Given the description of an element on the screen output the (x, y) to click on. 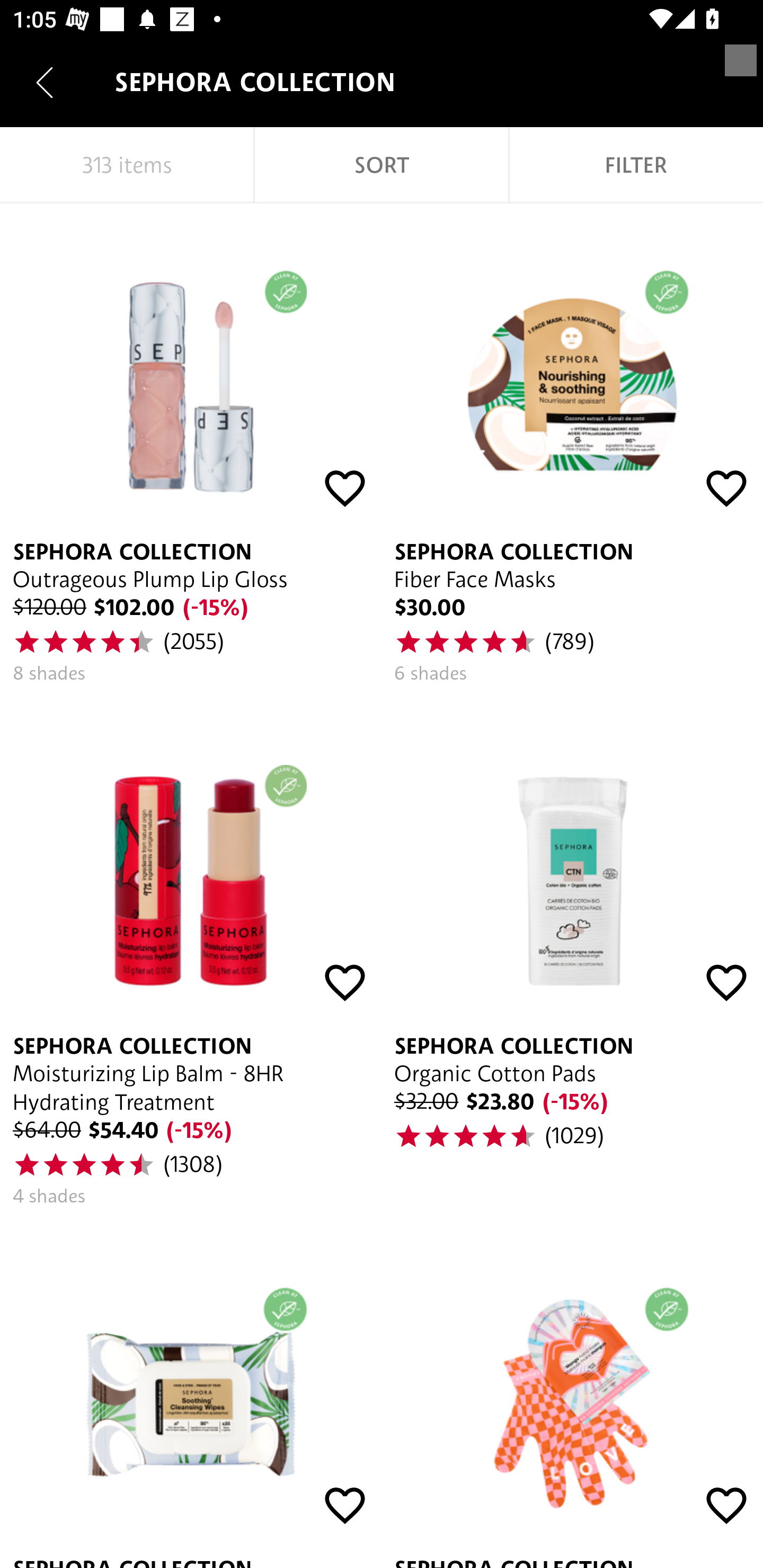
Navigate up (44, 82)
SORT (381, 165)
FILTER (636, 165)
SEPHORA COLLECTION (190, 1393)
SEPHORA COLLECTION (572, 1393)
